Given the description of an element on the screen output the (x, y) to click on. 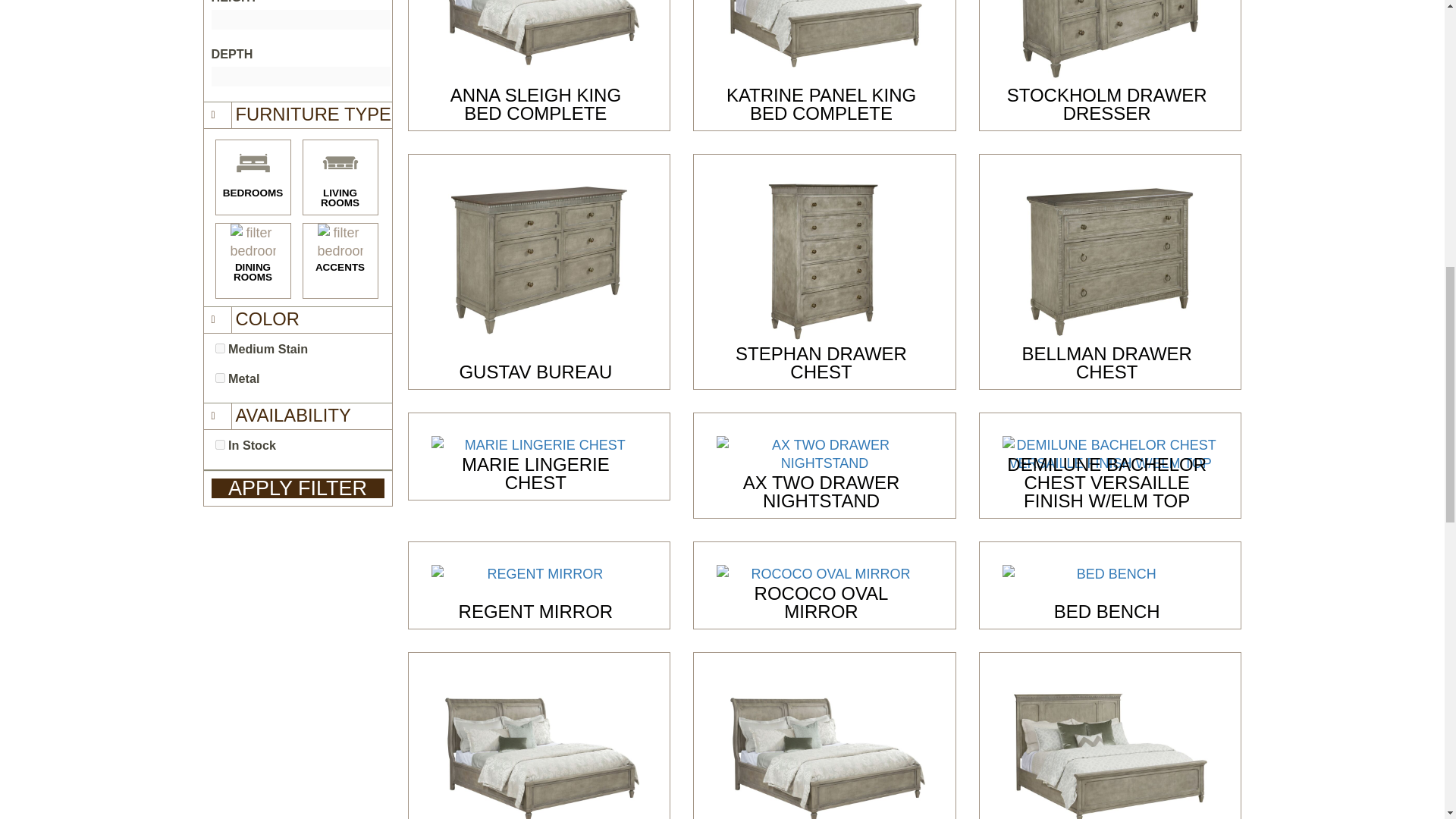
Medium Stain (220, 347)
1 (220, 444)
Metal (220, 378)
